Given the description of an element on the screen output the (x, y) to click on. 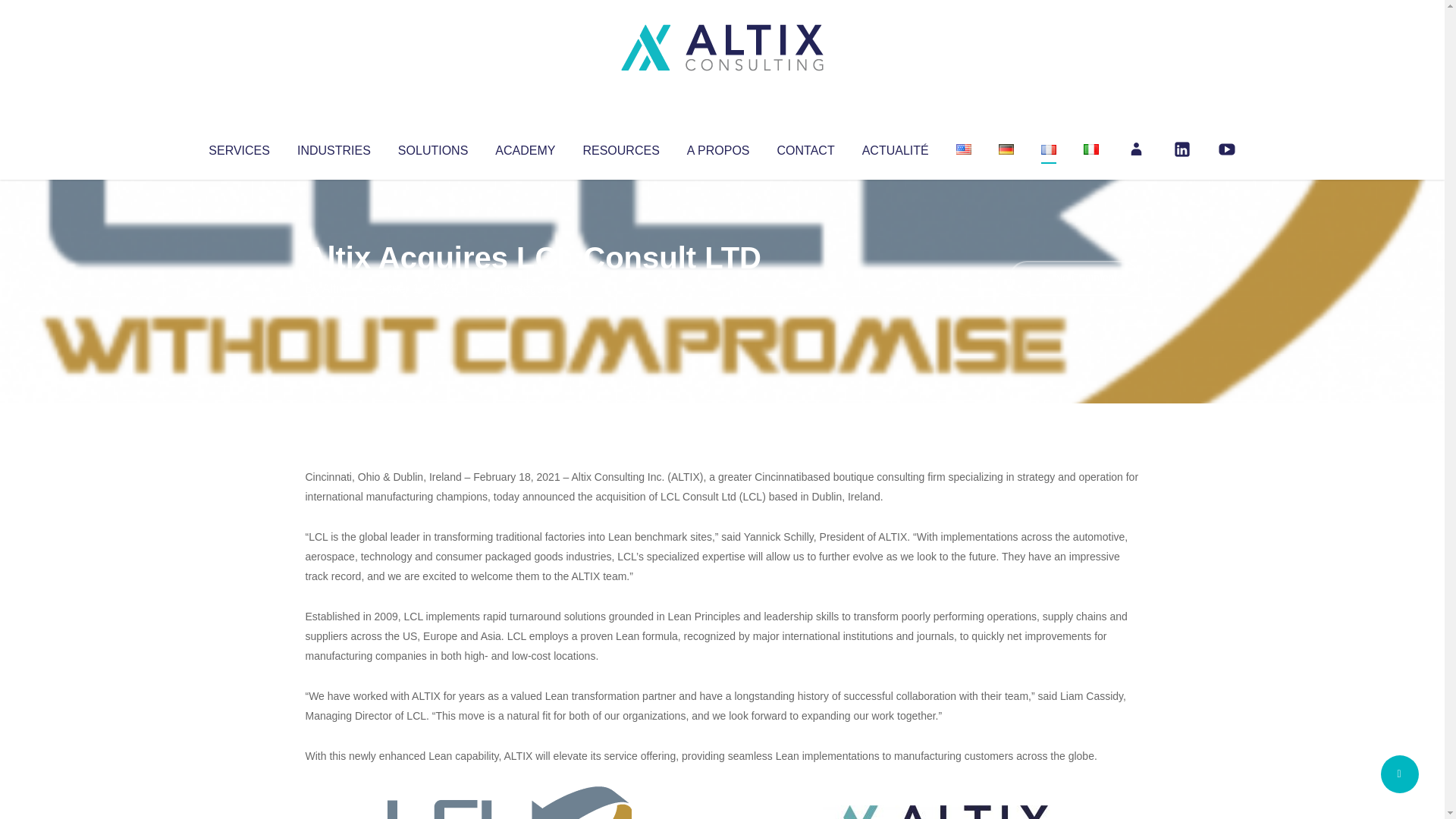
No Comments (1073, 278)
Articles par Altix (333, 287)
INDUSTRIES (334, 146)
Uncategorized (530, 287)
SERVICES (238, 146)
SOLUTIONS (432, 146)
RESOURCES (620, 146)
ACADEMY (524, 146)
A PROPOS (718, 146)
Altix (333, 287)
